Given the description of an element on the screen output the (x, y) to click on. 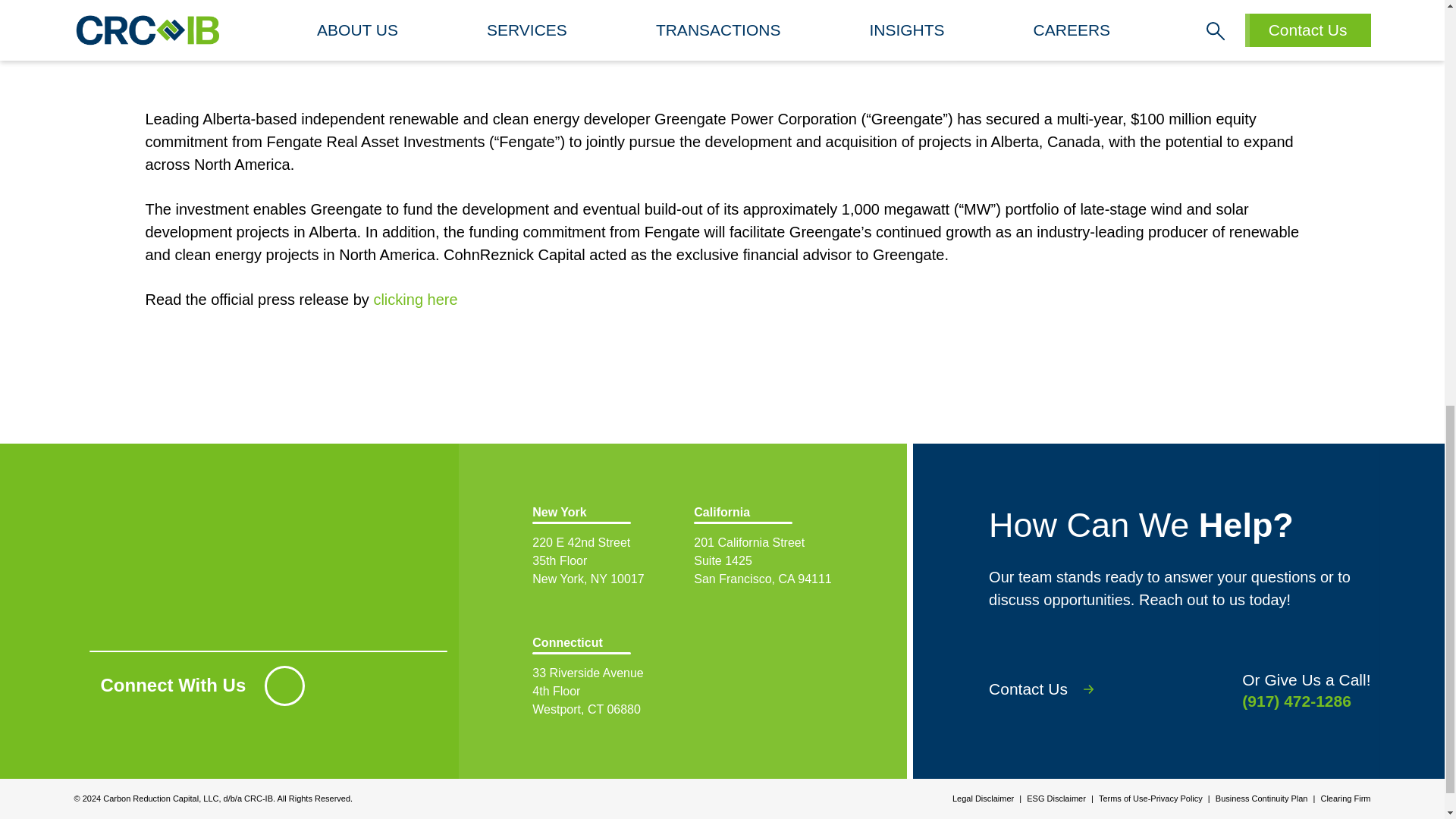
Connecticut (601, 677)
LinkedIn (284, 685)
Contact Us (601, 677)
clicking here (1052, 688)
California (414, 299)
New York (763, 547)
Carbon Reduction Capital (601, 547)
